Given the description of an element on the screen output the (x, y) to click on. 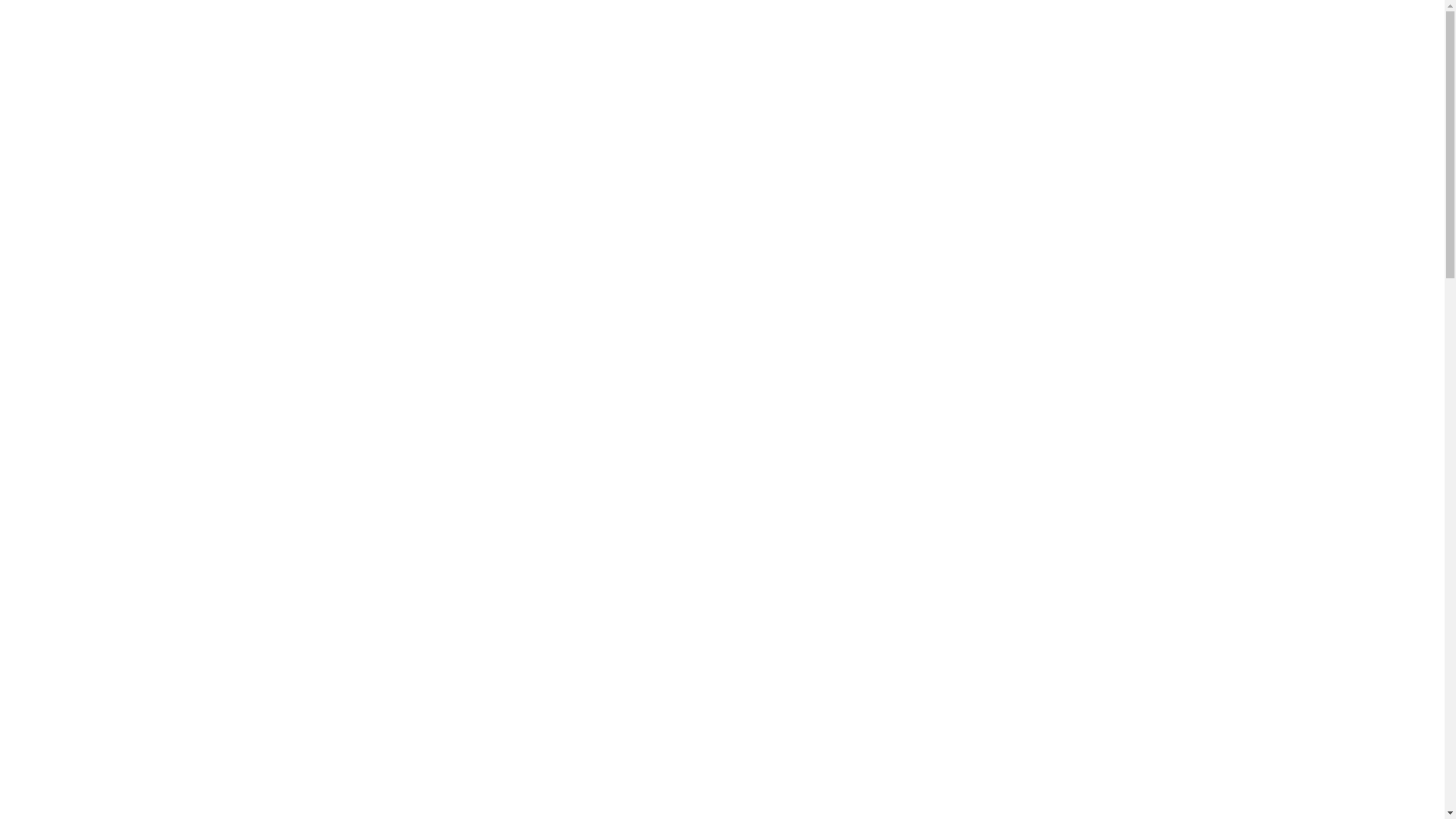
ADD TO CART
ADDED
SOLD OUT
PRE-ORDER Element type: text (433, 595)
Bag (0) Element type: text (1140, 28)
Shop By Age Element type: text (571, 69)
Shop Toys Element type: text (368, 69)
CONNETIX - 24 Piece Motion Pack Element type: text (676, 544)
Kids Decor & Homewares Element type: text (467, 69)
CONNETIX - 2 Piece Base Plate Pack Element type: text (987, 544)
SEARCH Element type: text (1136, 72)
CONNETIX - 92 Piece Ball Run Pack Element type: text (379, 544)
ADD TO CART
ADDED
SOLD OUT
PRE-ORDER Element type: text (1039, 595)
Home With Kids Element type: text (335, 28)
New Arrivals Element type: text (303, 68)
Brands Element type: text (638, 69)
Sale Element type: text (679, 68)
ADD TO CART
ADDED
SOLD OUT
PRE-ORDER Element type: text (736, 595)
Home Element type: text (291, 107)
